Given the description of an element on the screen output the (x, y) to click on. 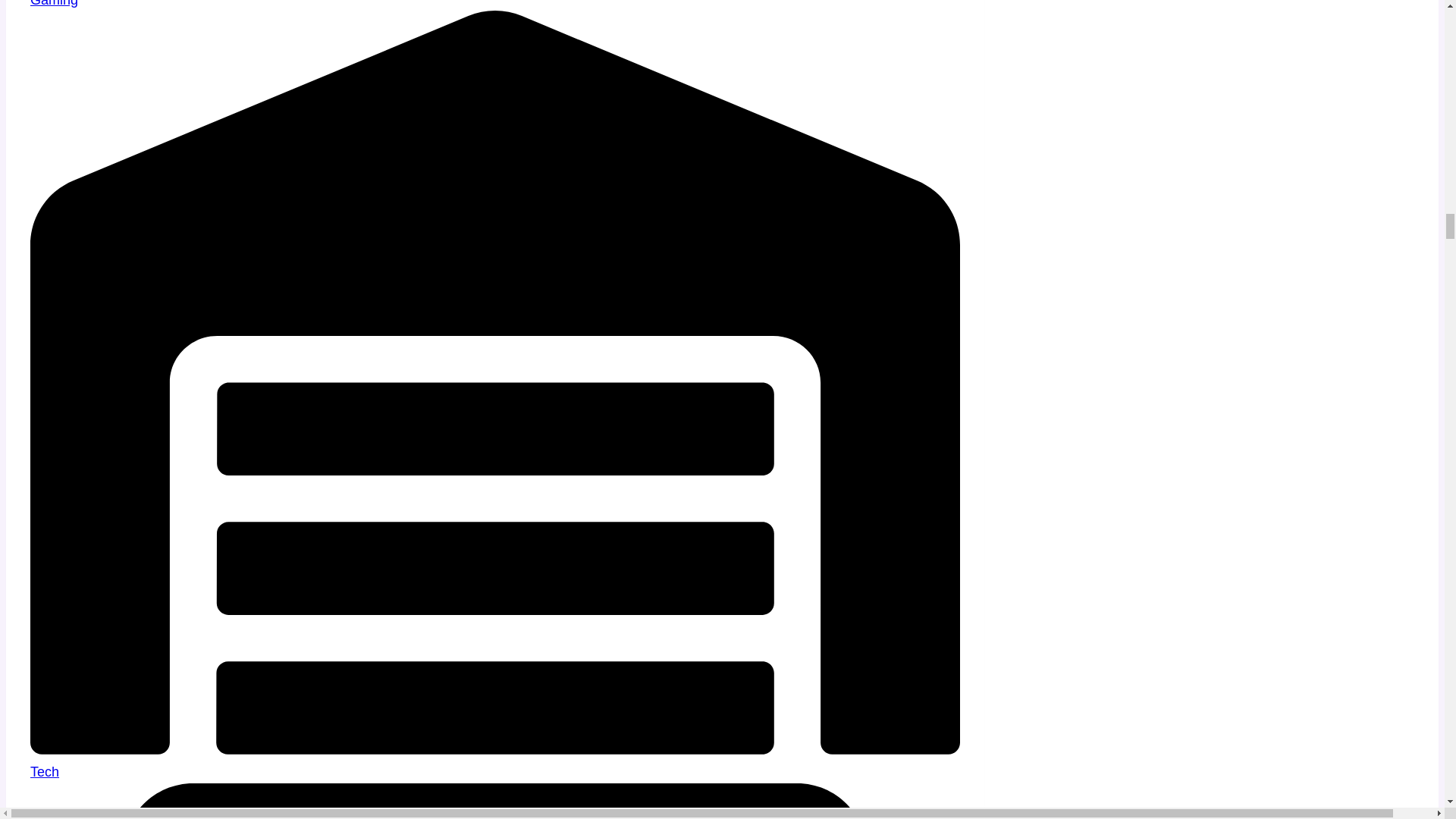
Tech (44, 771)
Gaming (54, 3)
